Given the description of an element on the screen output the (x, y) to click on. 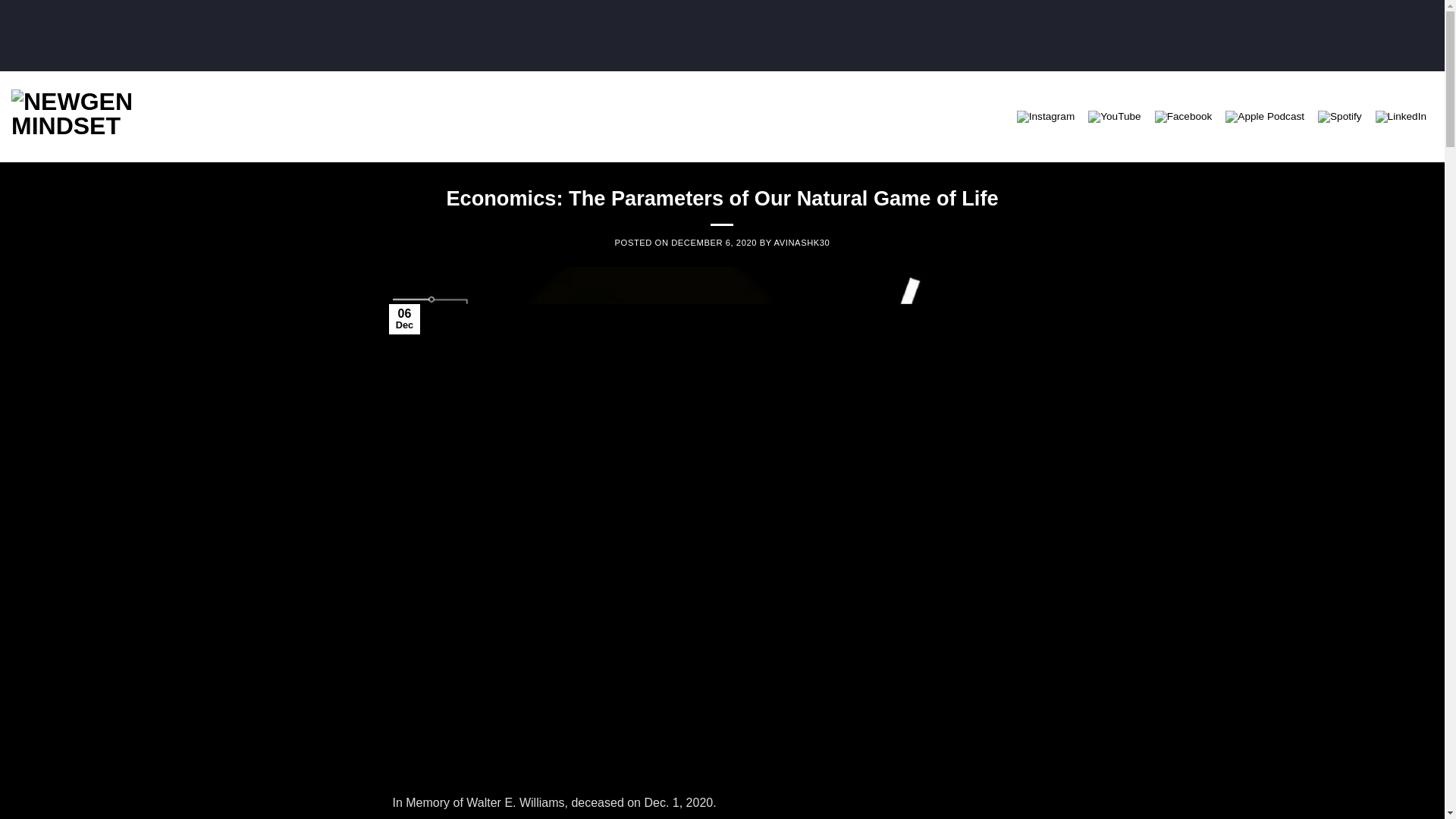
About Us (892, 116)
YouTube (1113, 116)
Facebook (1184, 116)
Spotify (1339, 116)
Instagram (1045, 116)
YouTube (1114, 116)
Investor Gatherings (640, 116)
Apple Podcast (1264, 116)
AVINASHK30 (801, 242)
Spotify (1339, 116)
